Given the description of an element on the screen output the (x, y) to click on. 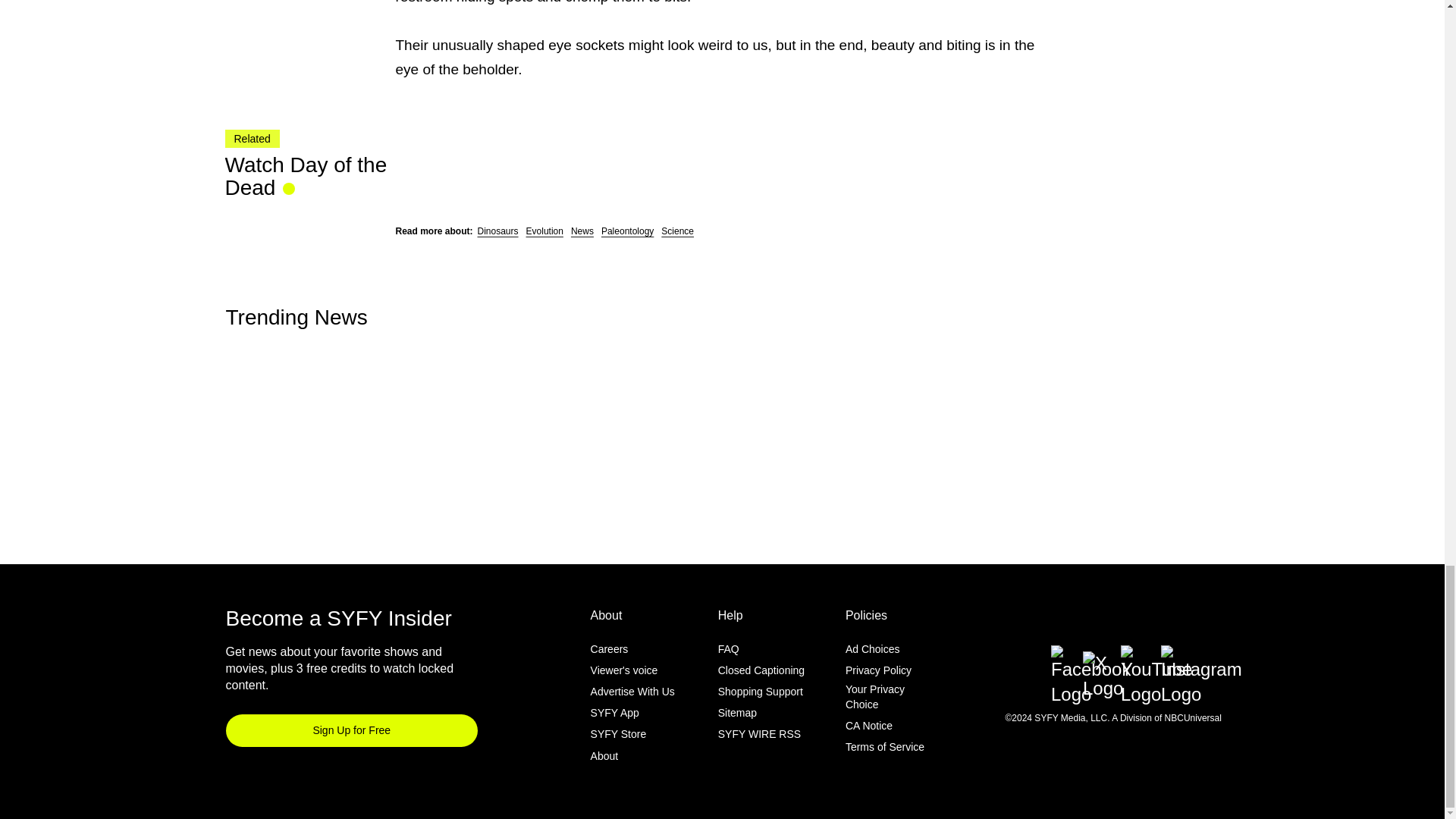
Paleontology (627, 231)
Dinosaurs (497, 231)
Evolution (544, 231)
Science (677, 231)
Advertise With Us (633, 691)
News (582, 231)
